Given the description of an element on the screen output the (x, y) to click on. 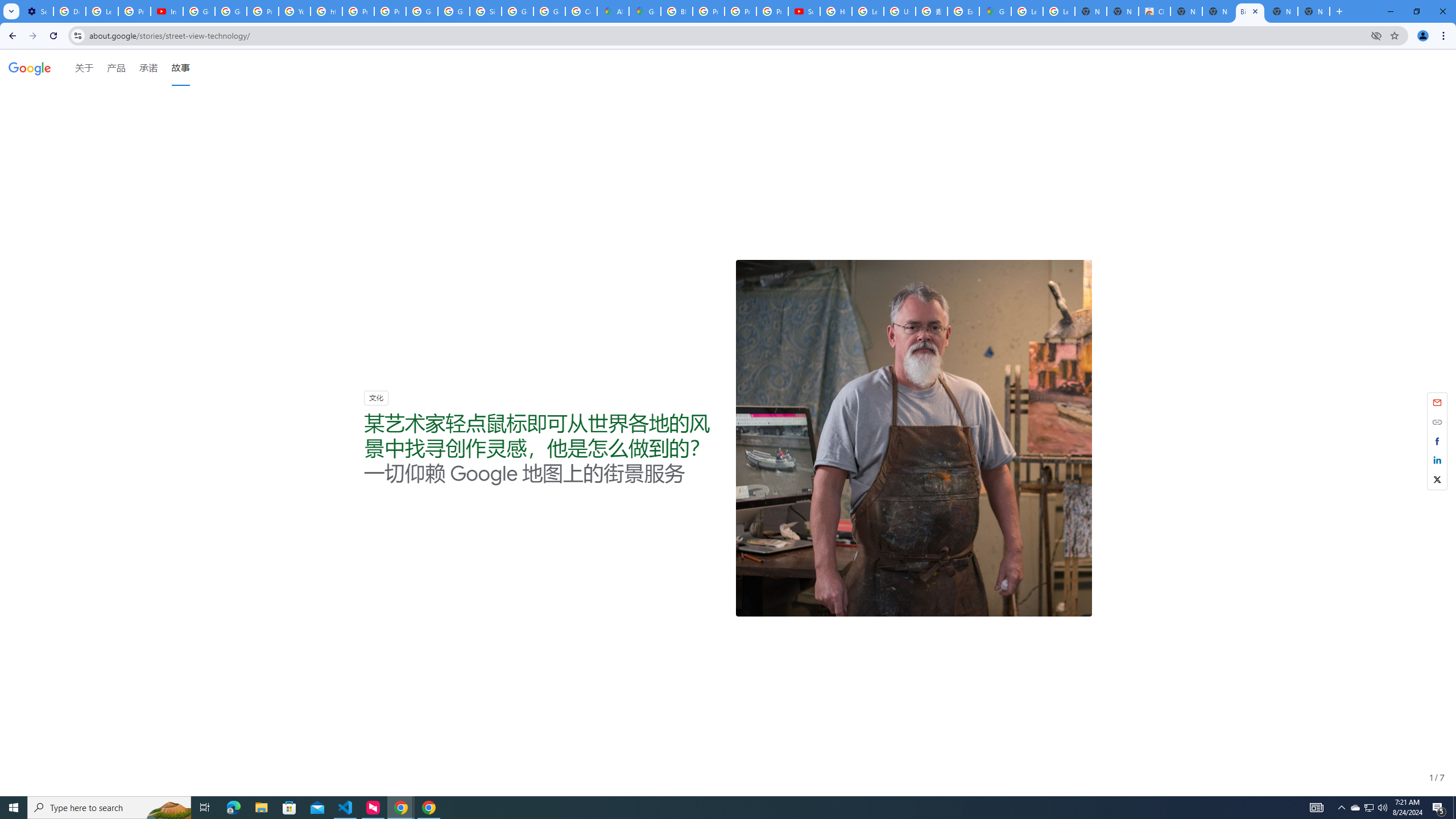
Google Maps (644, 11)
Privacy Help Center - Policies Help (708, 11)
Third-party cookies blocked (1376, 35)
Subscriptions - YouTube (804, 11)
Delete photos & videos - Computer - Google Photos Help (69, 11)
Chrome Web Store (1154, 11)
